Given the description of an element on the screen output the (x, y) to click on. 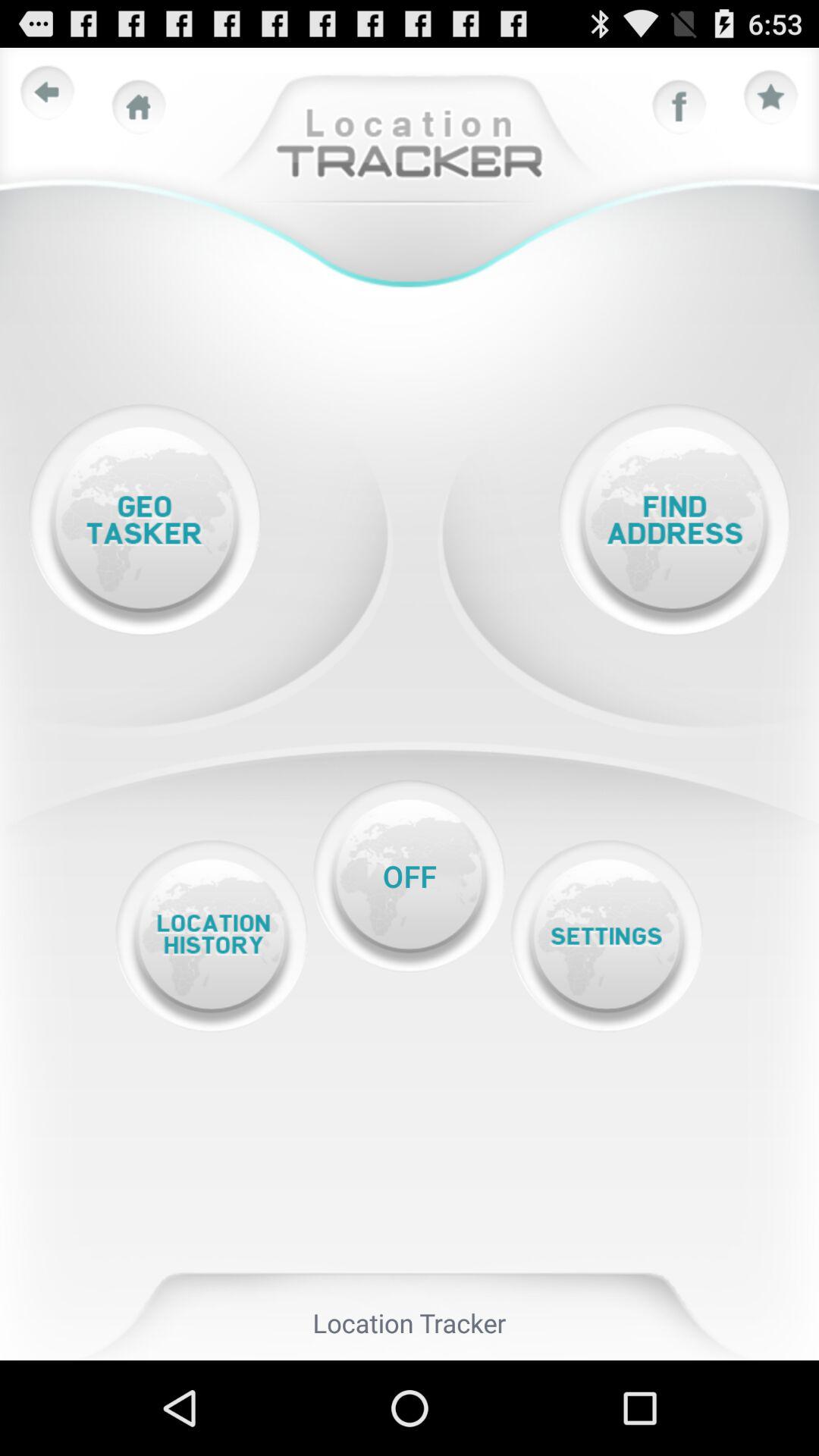
go back (47, 93)
